Given the description of an element on the screen output the (x, y) to click on. 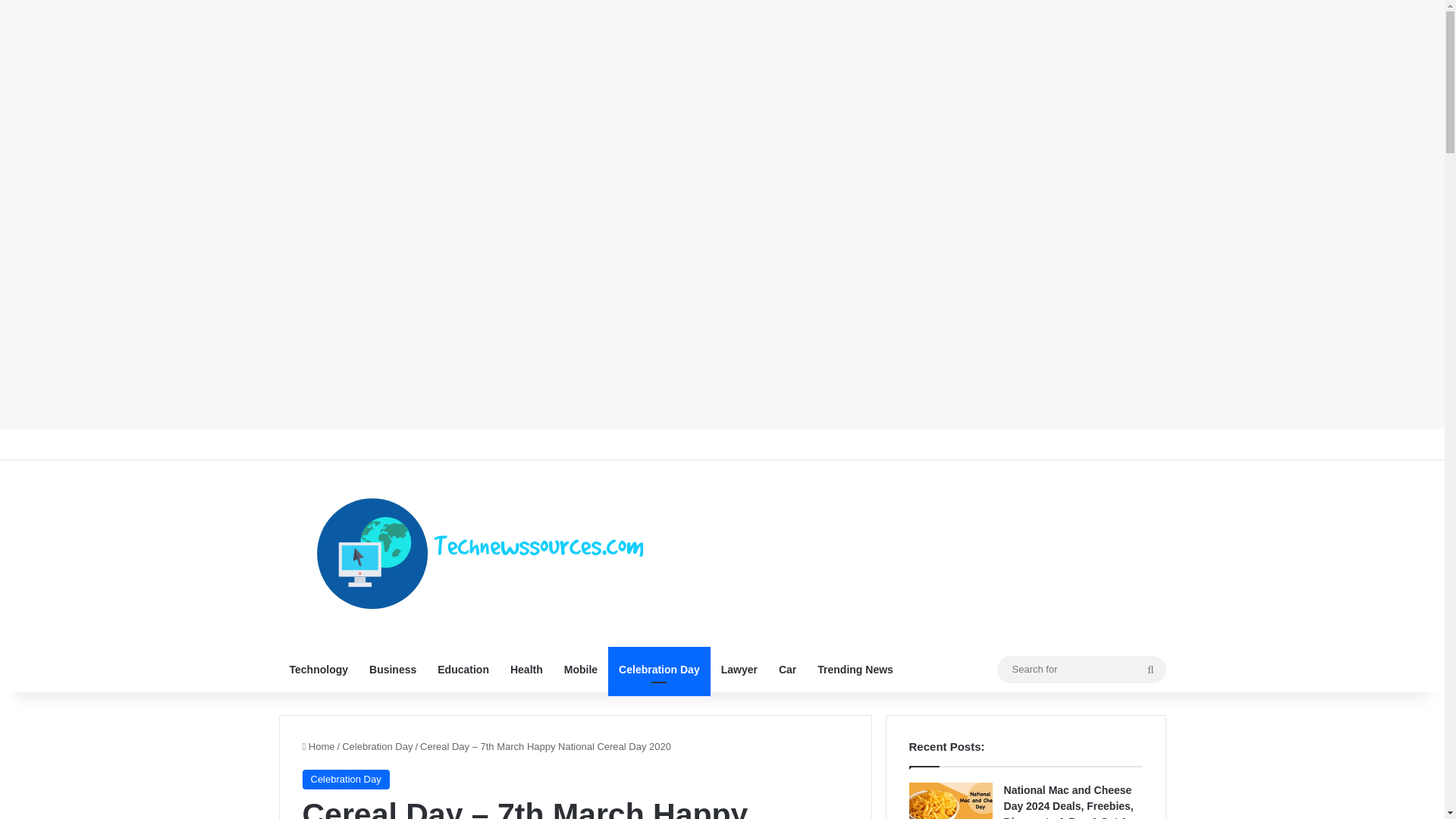
Technology (319, 669)
Celebration Day (377, 746)
Business (392, 669)
Health (526, 669)
Search for (1080, 669)
Lawyer (739, 669)
Celebration Day (659, 669)
Search for (1150, 669)
Education (462, 669)
Mobile (580, 669)
Home (317, 746)
Trending News (855, 669)
Celebration Day (344, 779)
Technewssources.com (480, 553)
